Given the description of an element on the screen output the (x, y) to click on. 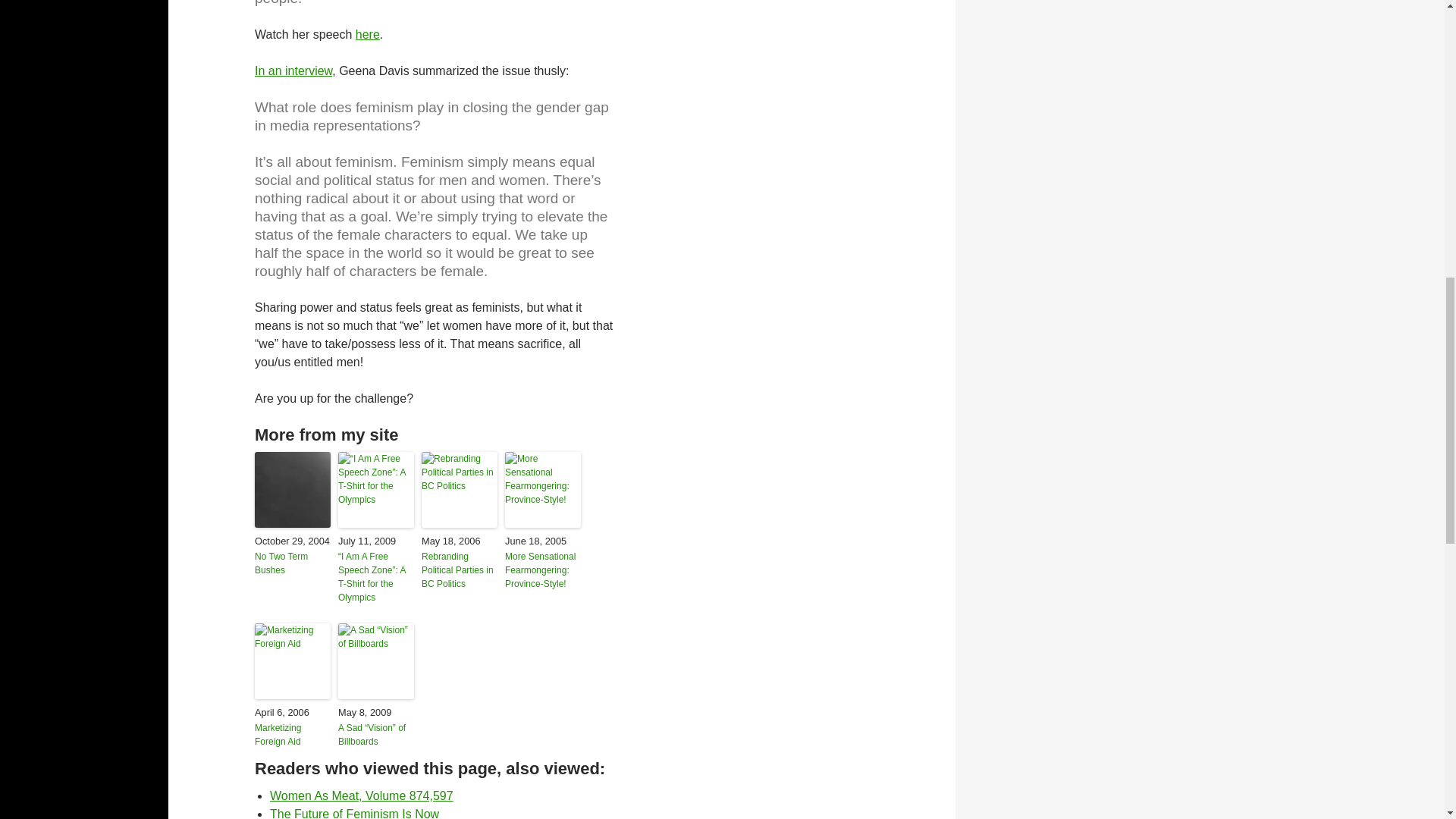
In an interview (292, 70)
The Future of Feminism Is Now (354, 813)
More Sensational Fearmongering: Province-Style! (542, 569)
Rebranding Political Parties in BC Politics (459, 569)
Marketizing Foreign Aid (292, 734)
here (367, 33)
Women As Meat, Volume 874,597 (360, 795)
No Two Term Bushes (292, 563)
